Given the description of an element on the screen output the (x, y) to click on. 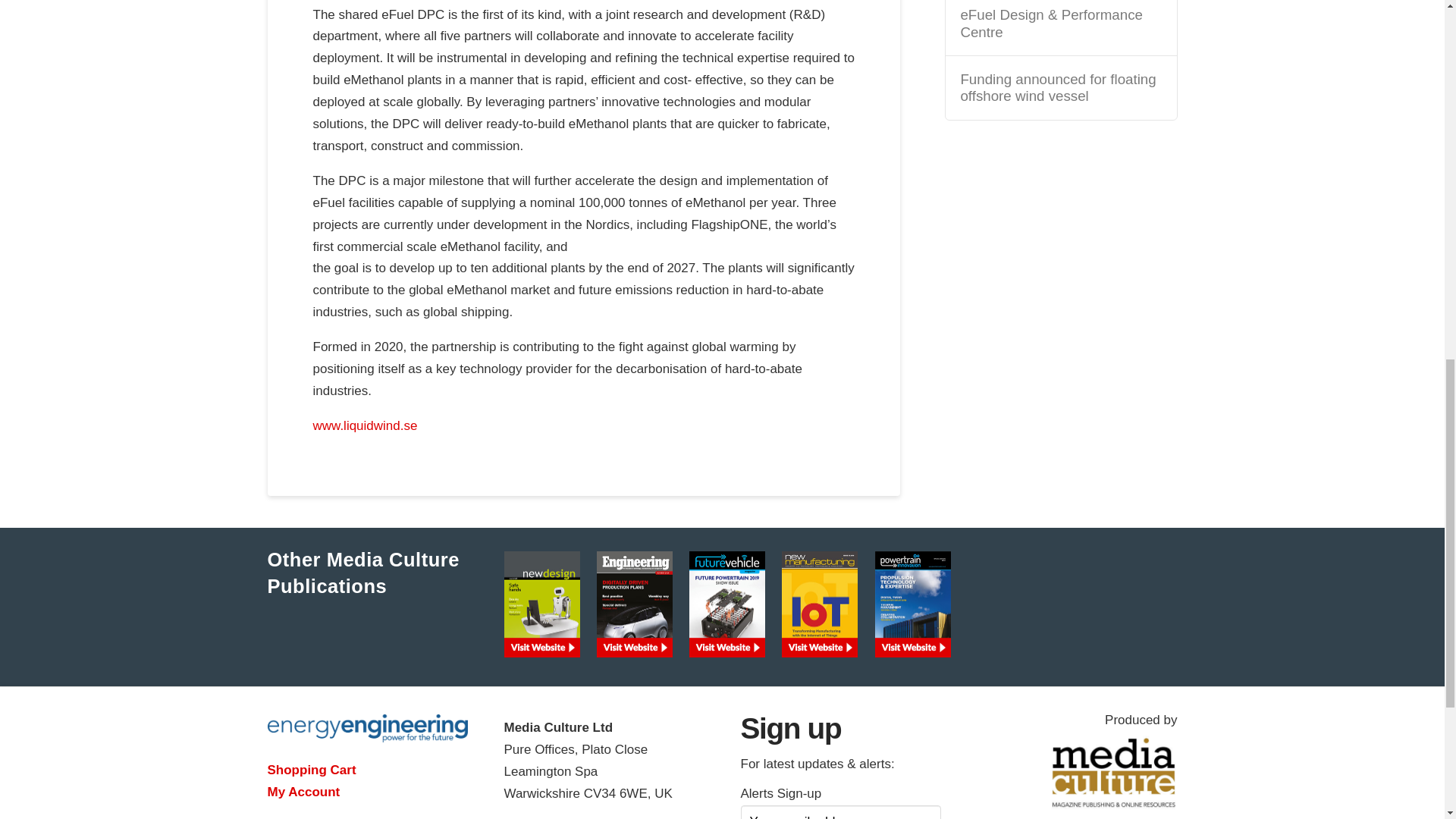
Funding announced for floating offshore wind vessel (1060, 88)
Shopping Cart (310, 769)
My Account (302, 791)
www.liquidwind.se (364, 425)
